Given the description of an element on the screen output the (x, y) to click on. 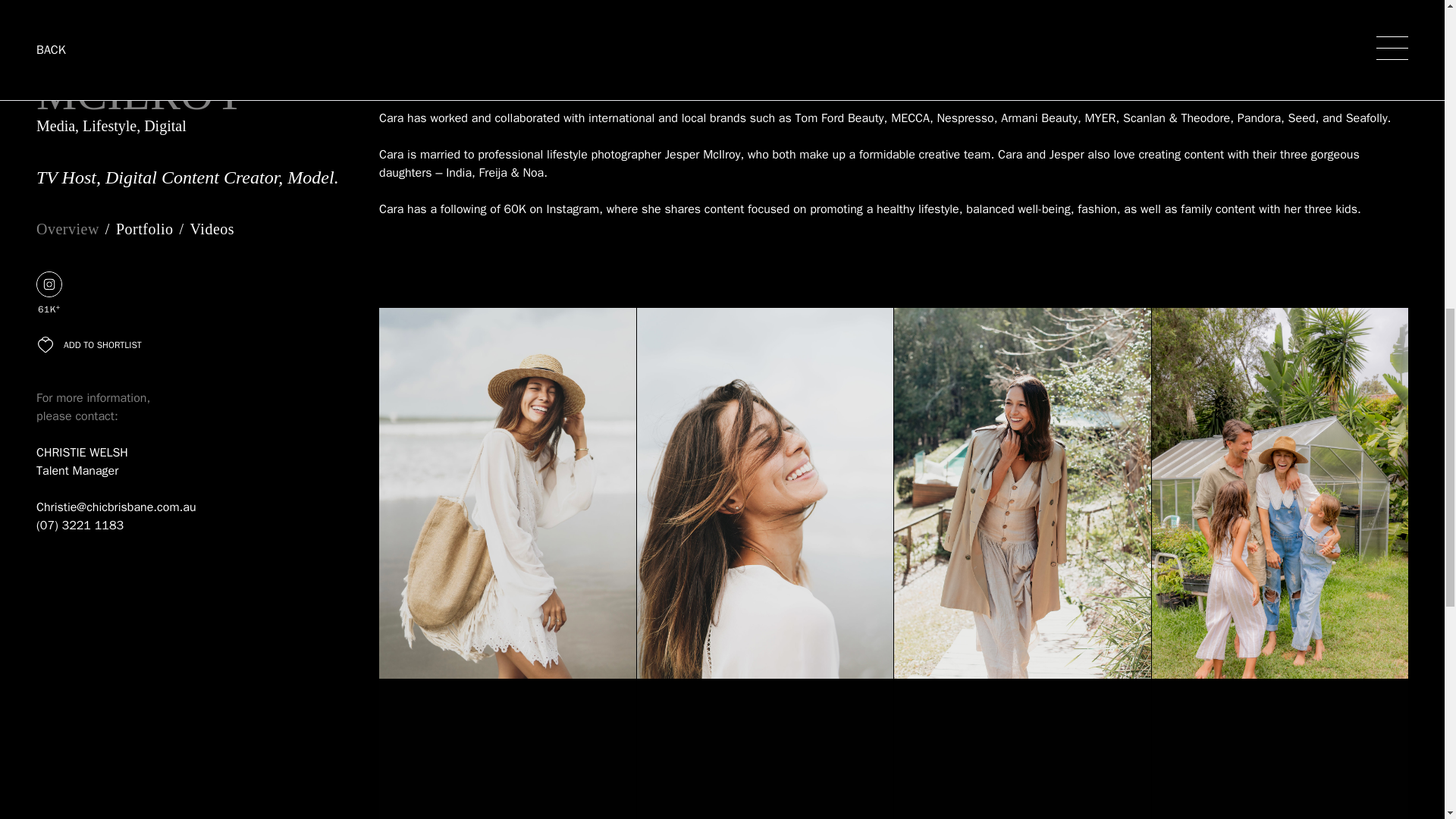
Videos (212, 228)
ADD TO SHORTLIST (88, 344)
Portfolio (144, 228)
